Given the description of an element on the screen output the (x, y) to click on. 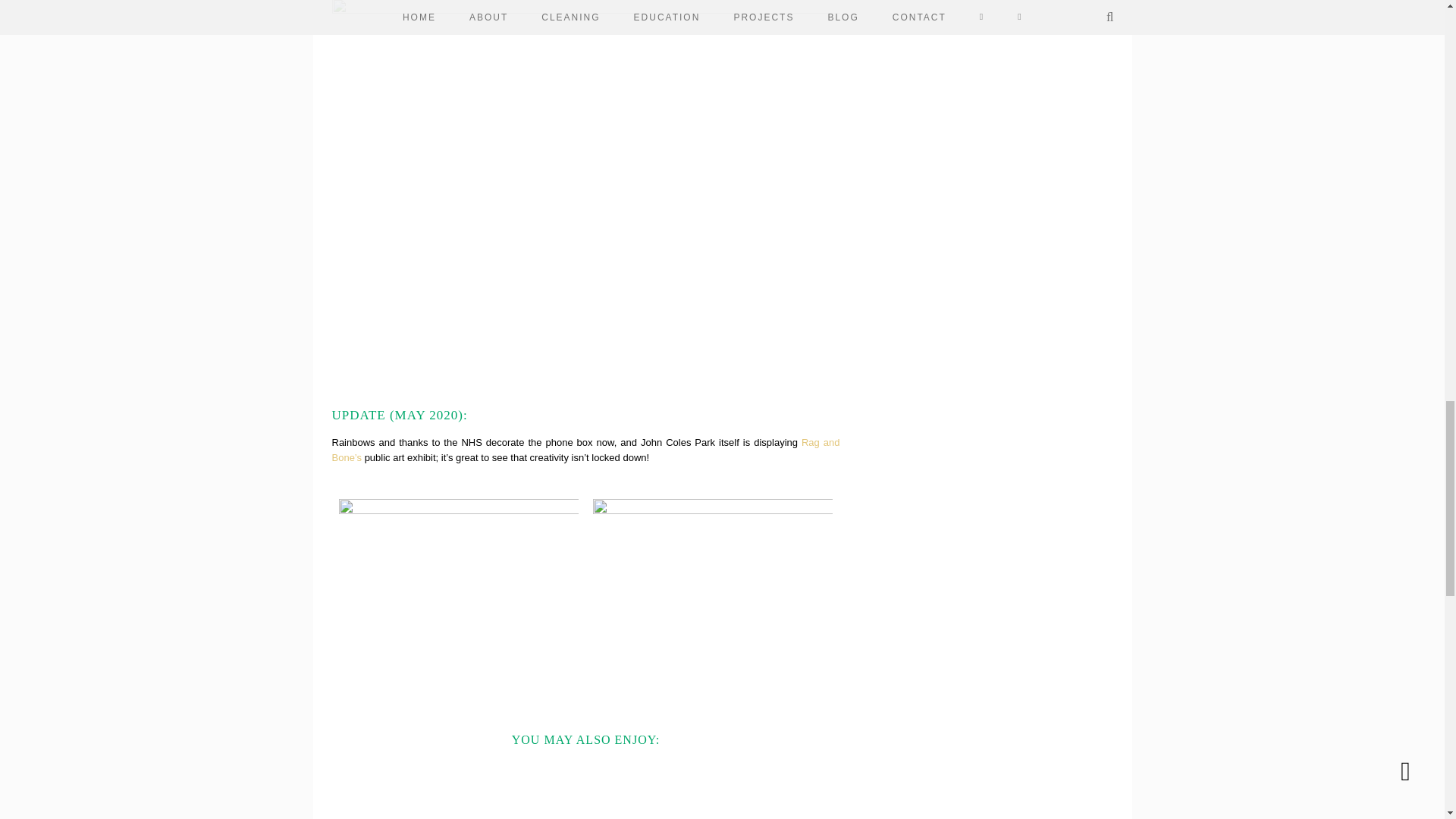
Too many questions, not enough answers? (389, 787)
Reduce Your Wasteline: The Wardrobe (520, 787)
CHRISTMAS GIVEAWAY: Enter to win a Refill Chippenham Bottle (781, 787)
